Given the description of an element on the screen output the (x, y) to click on. 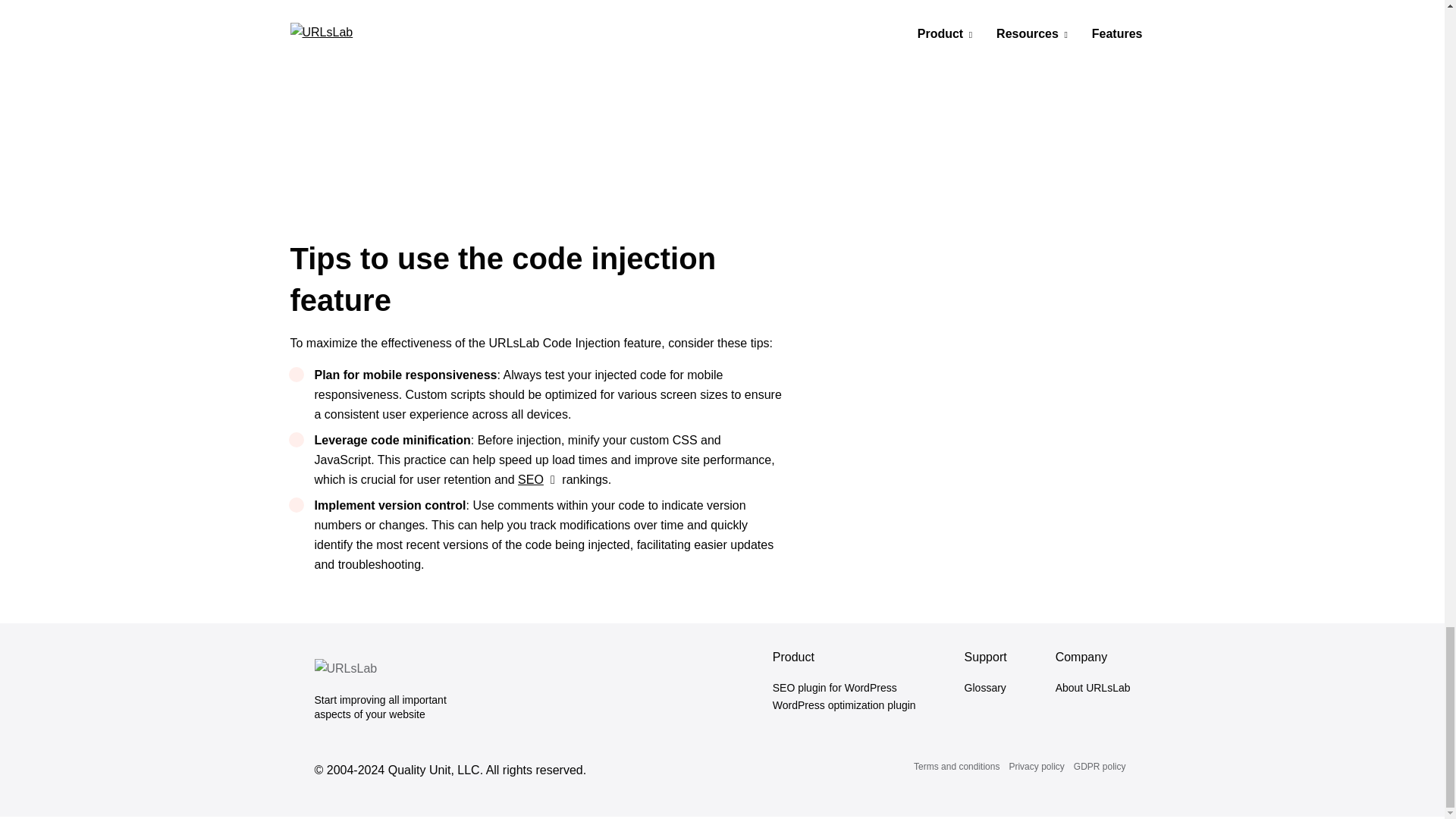
Product (793, 656)
Terms and conditions (956, 766)
WordPress optimization plugin (844, 705)
Privacy policy (1036, 766)
About URLsLab (1093, 687)
GDPR policy (1099, 766)
Company (1080, 656)
SEO plugin for WordPress (844, 687)
Glossary (985, 687)
